Given the description of an element on the screen output the (x, y) to click on. 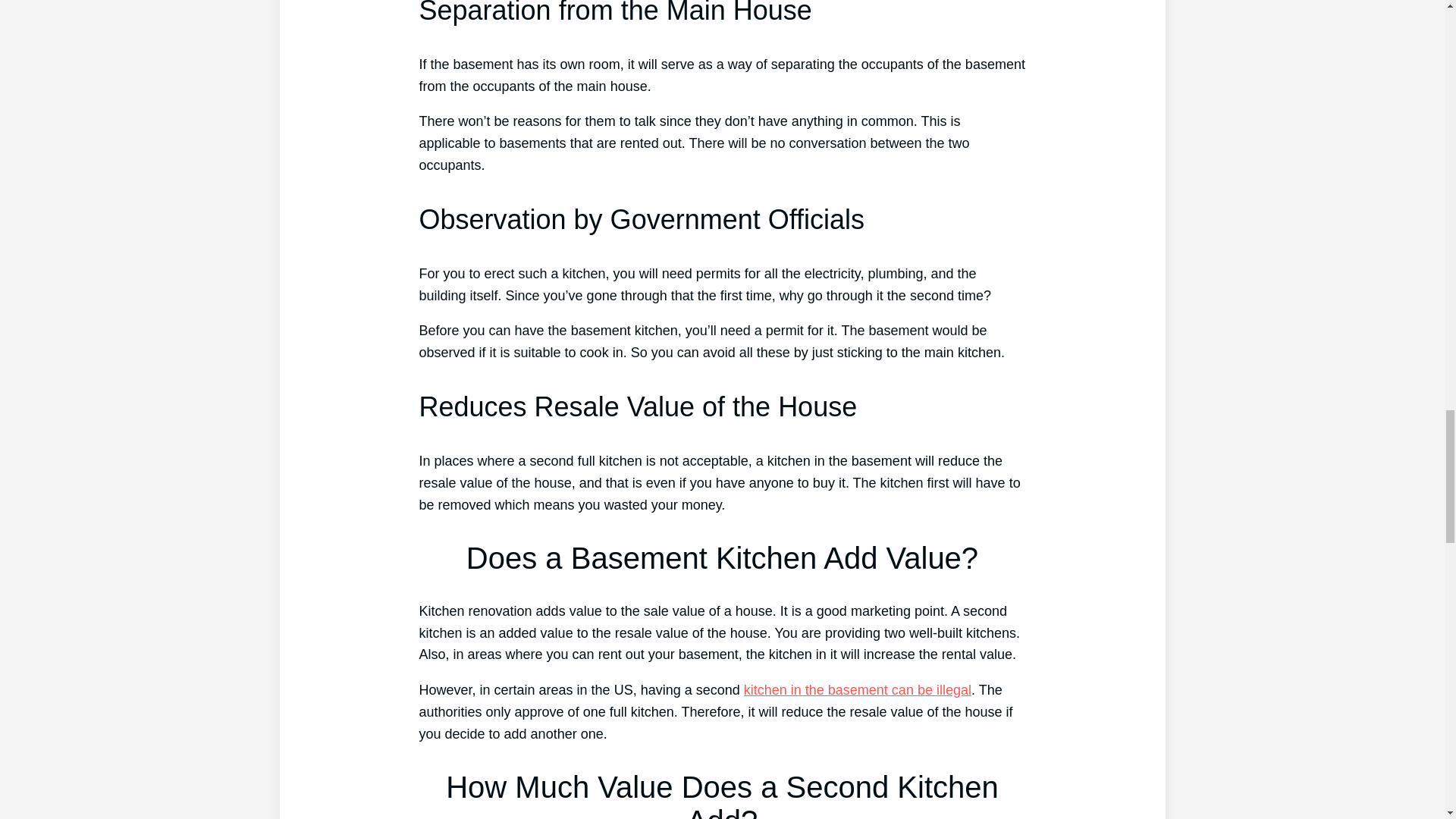
kitchen in the basement can be illegal (857, 689)
